Given the description of an element on the screen output the (x, y) to click on. 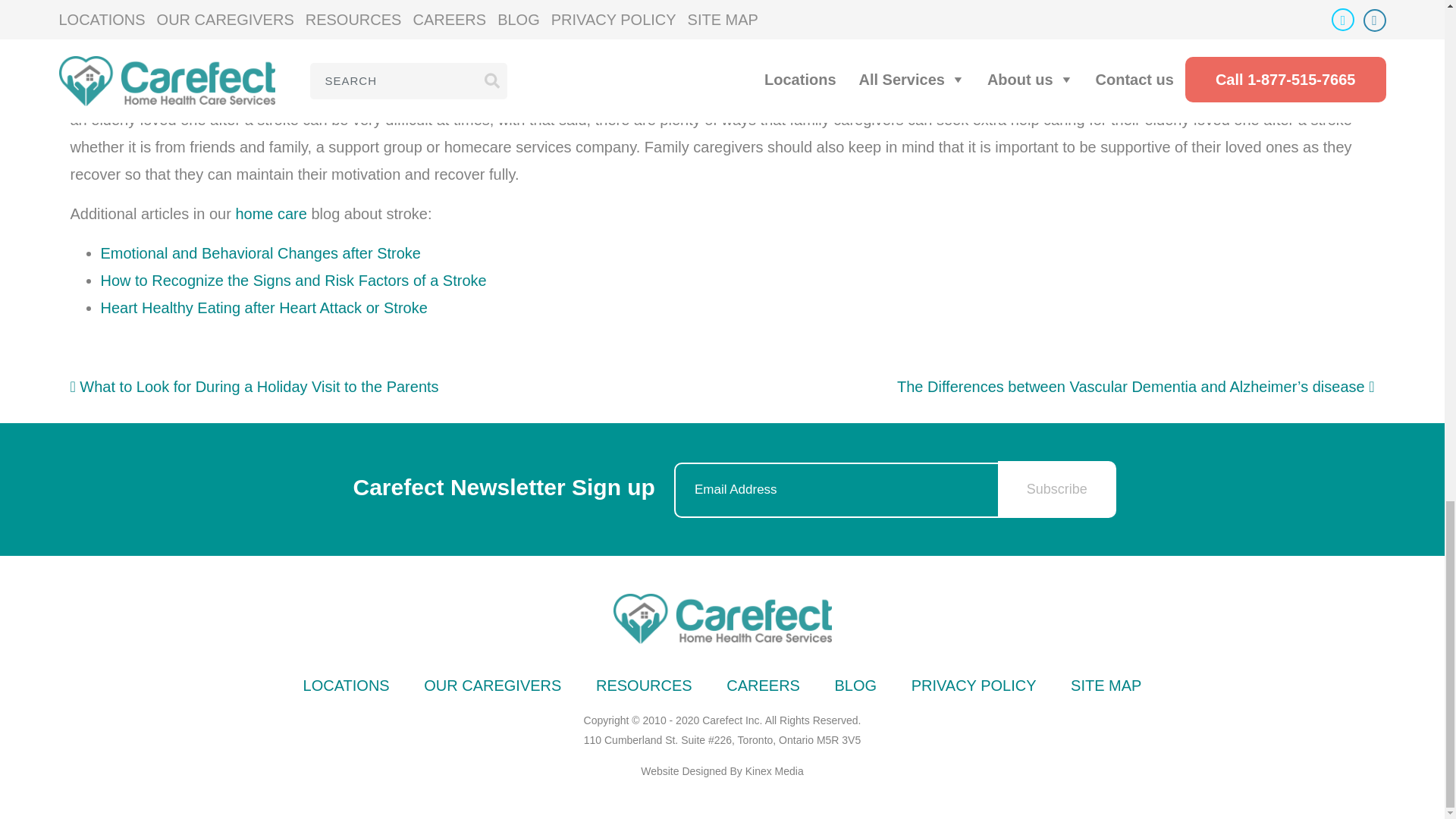
Subscribe (1056, 488)
Heart Healthy Eating after Heart Attack or Stroke (263, 307)
Emotional and Behavioral Changes after Stroke (260, 252)
How to Recognize the Signs and Risk Factors of a Stroke (293, 280)
